Given the description of an element on the screen output the (x, y) to click on. 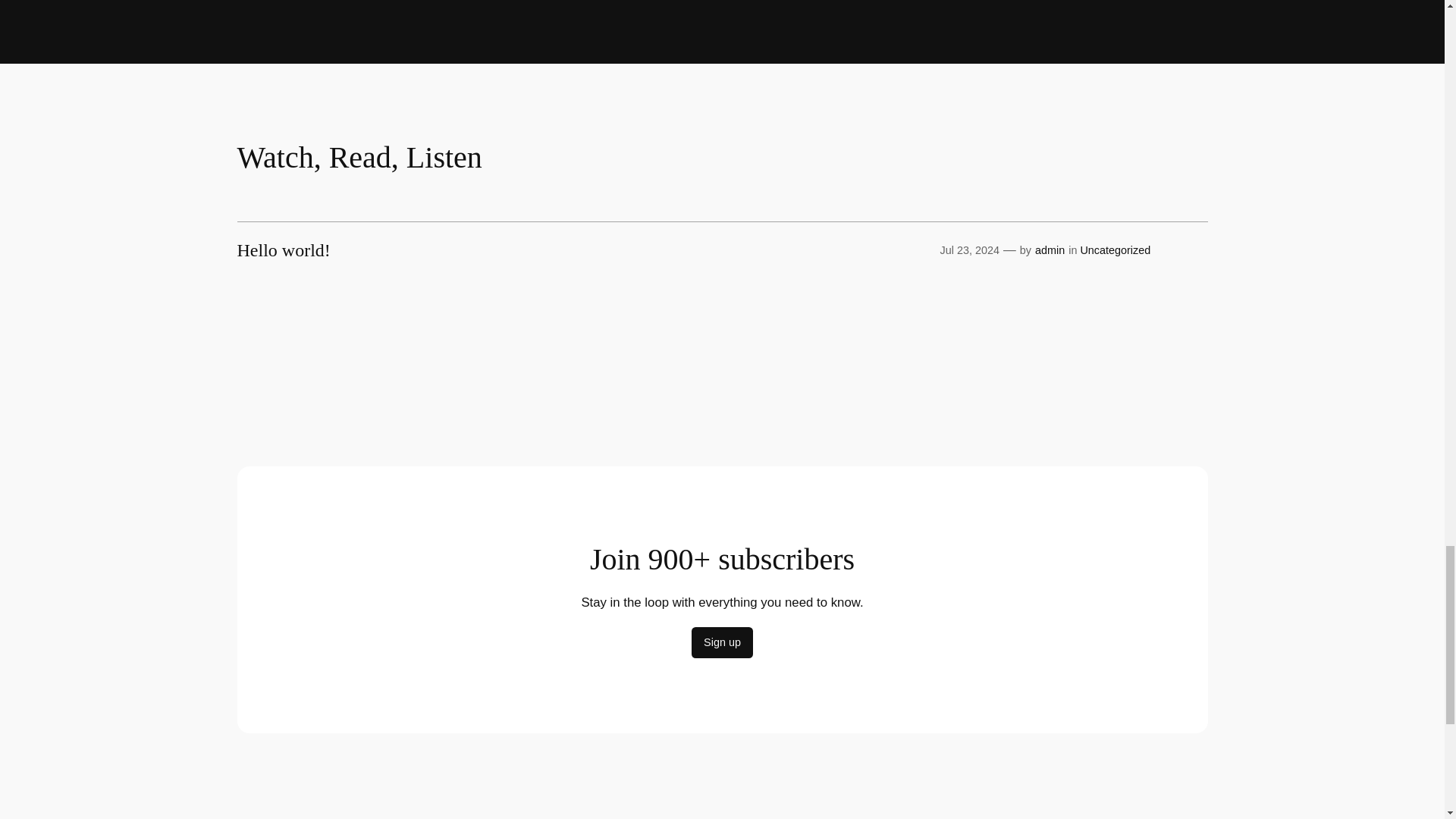
Sign up (721, 643)
Uncategorized (1115, 250)
Hello world! (282, 250)
Jul 23, 2024 (968, 250)
admin (1049, 250)
